Given the description of an element on the screen output the (x, y) to click on. 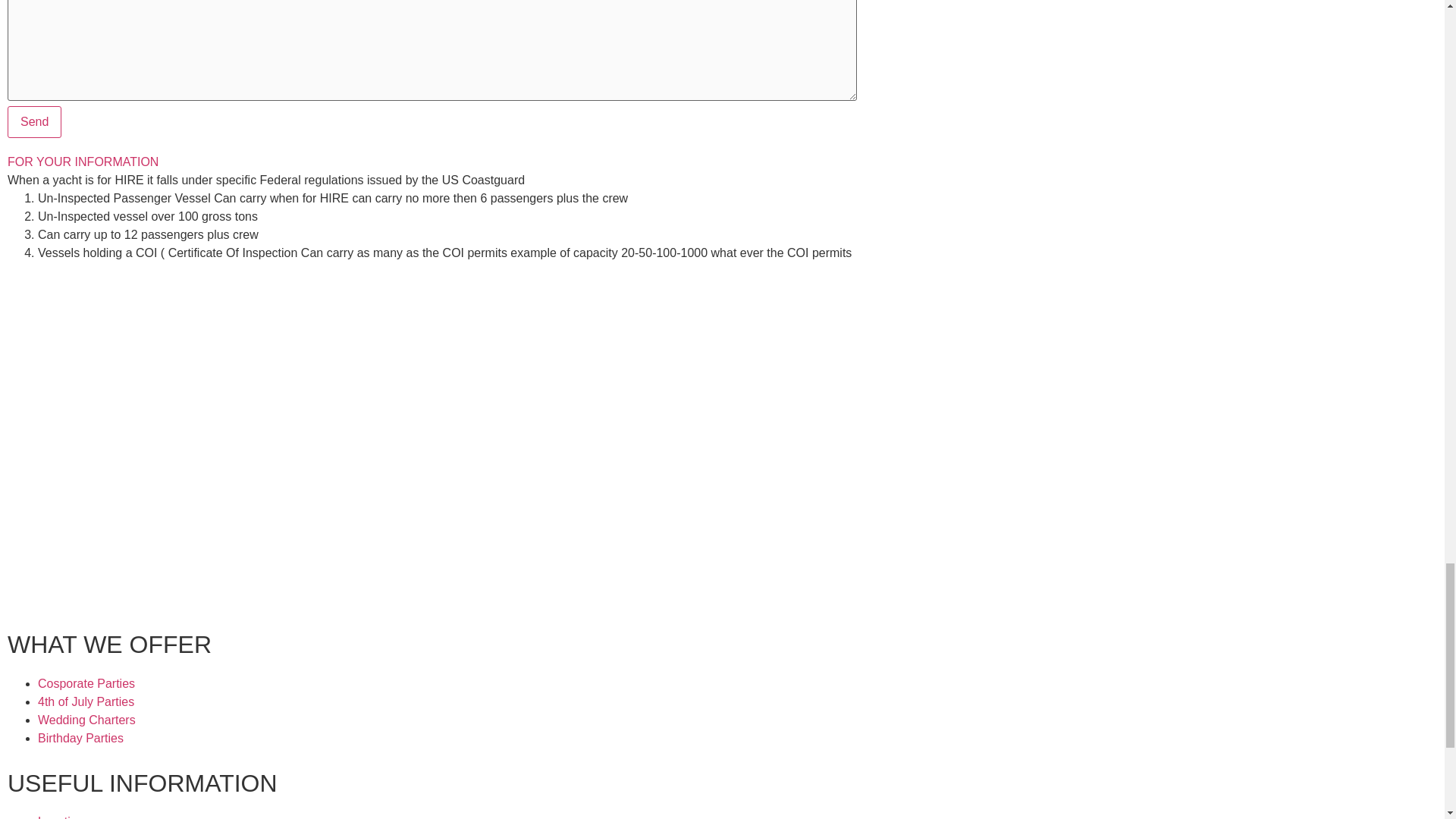
Cosporate Parties (86, 683)
Birthday Parties (80, 738)
Locations (63, 816)
Wedding Charters (86, 719)
FOR YOUR INFORMATION (82, 161)
Send (34, 122)
4th of July Parties (85, 701)
